Given the description of an element on the screen output the (x, y) to click on. 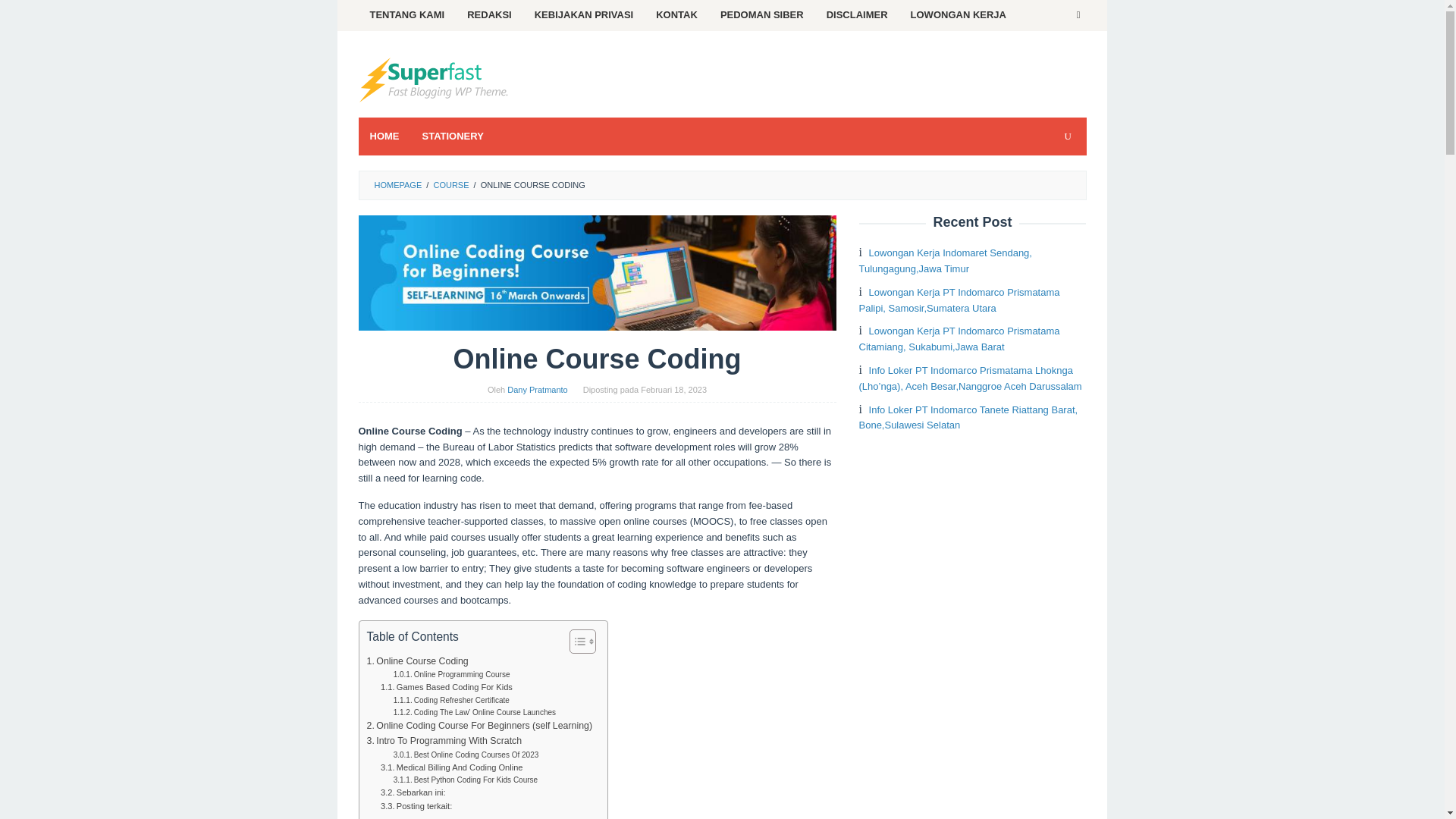
Bisa Kerja (433, 79)
STATIONERY (452, 136)
Online Programming Course (452, 674)
REDAKSI (488, 15)
Intro To Programming With Scratch (444, 741)
Bisa Kerja (433, 79)
Coding Refresher Certificate (451, 700)
Dany Pratmanto (536, 388)
LOWONGAN KERJA (958, 15)
Intro To Programming With Scratch (444, 741)
